Given the description of an element on the screen output the (x, y) to click on. 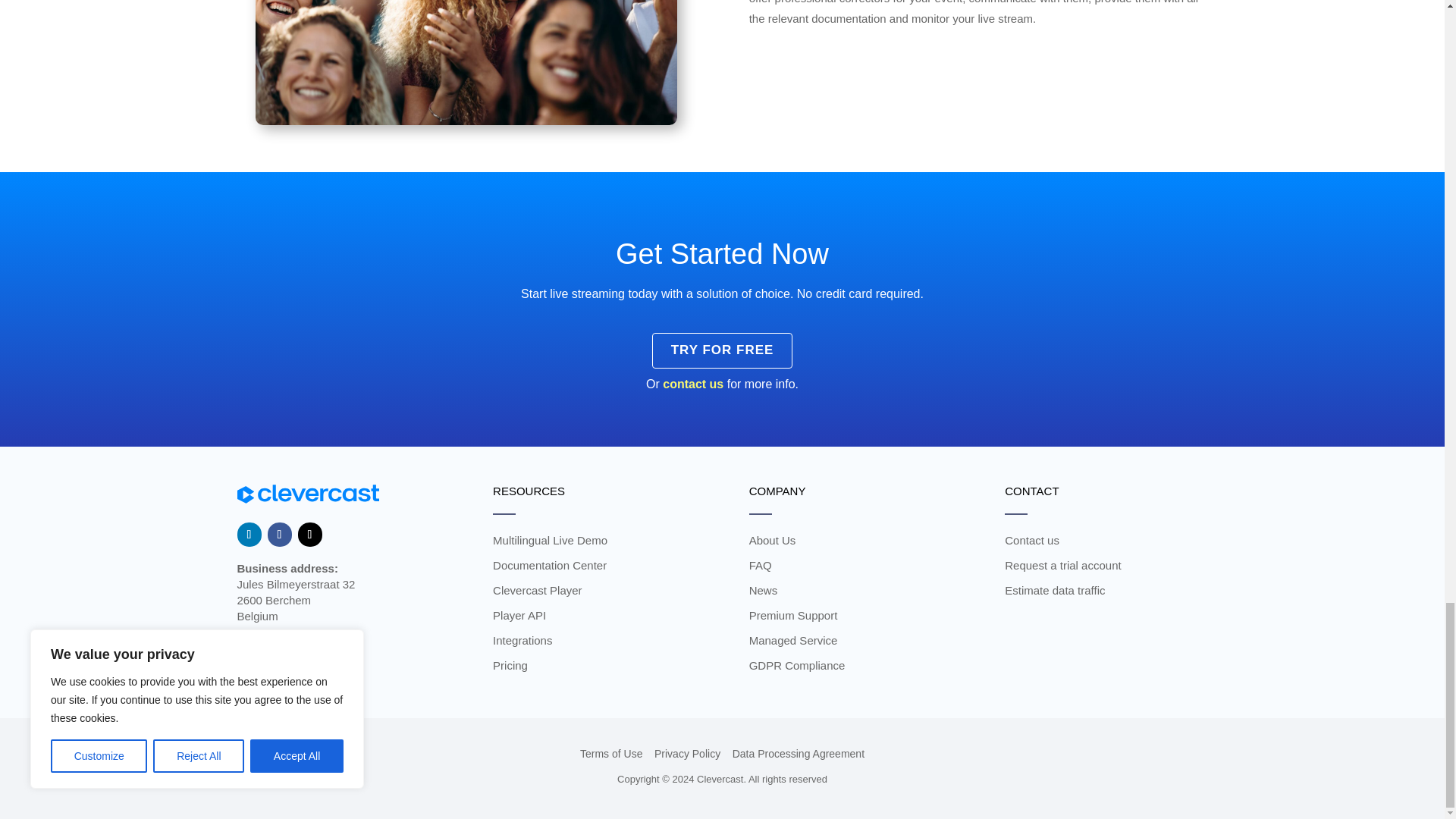
Follow on Facebook (278, 534)
GDPR-compliance-scaled (466, 62)
Follow on X (309, 534)
logo-clevercast-blue (306, 493)
Follow on LinkedIn (247, 534)
